Given the description of an element on the screen output the (x, y) to click on. 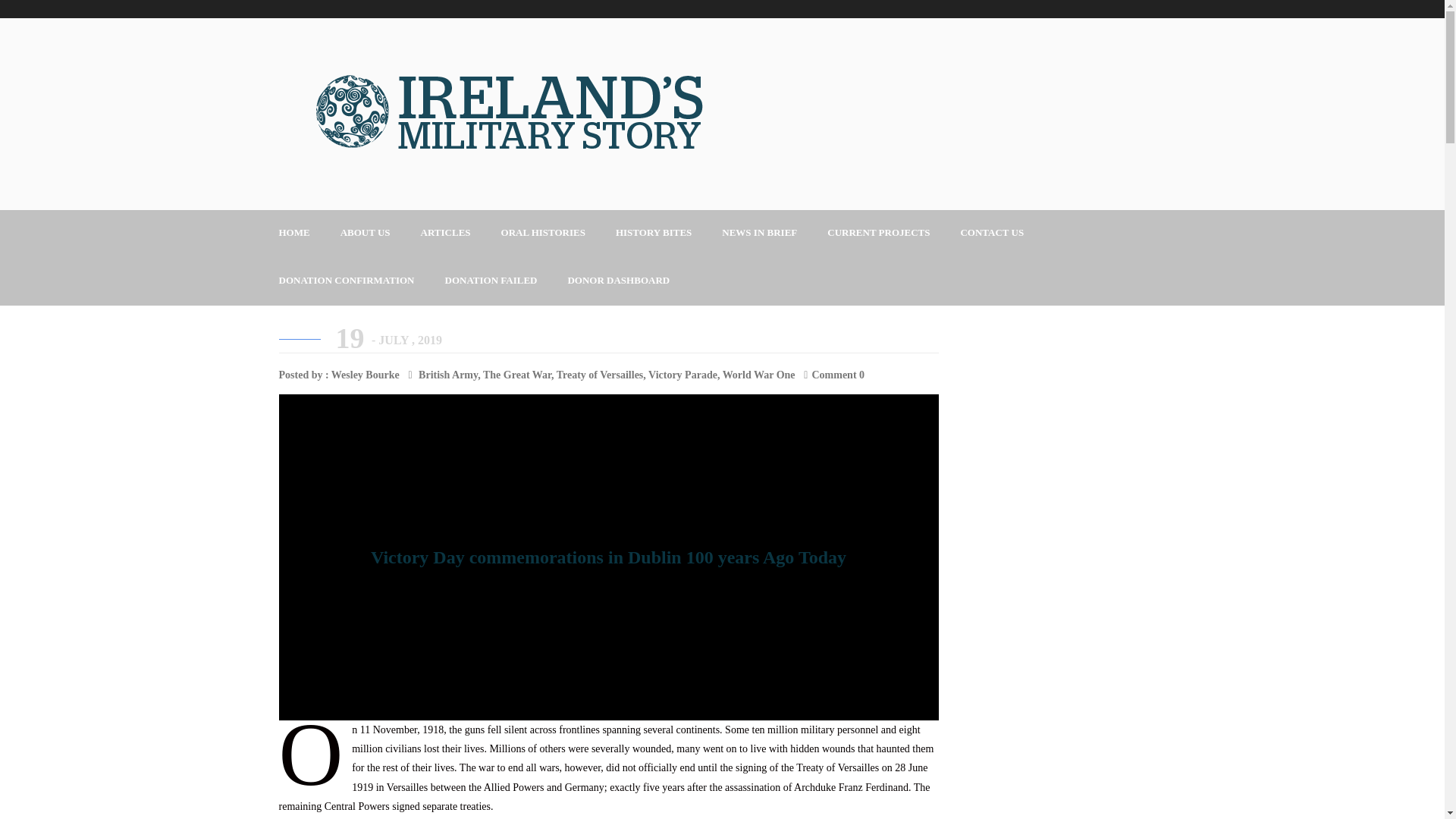
ABOUT US (365, 233)
ARTICLES (445, 233)
Theme (518, 113)
Articles (445, 233)
About Us (365, 233)
